Given the description of an element on the screen output the (x, y) to click on. 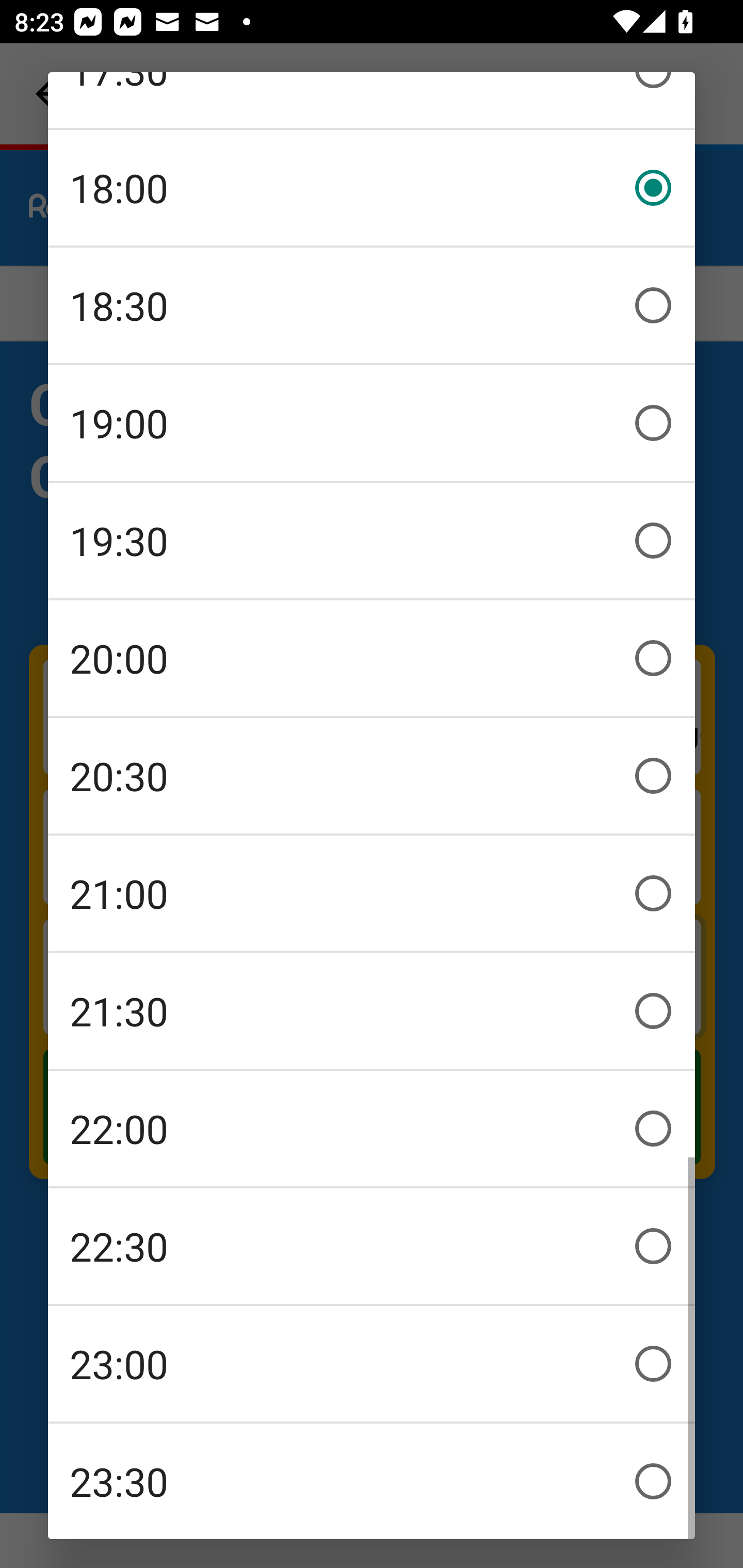
18:00 (371, 188)
18:30 (371, 305)
19:00 (371, 423)
19:30 (371, 540)
20:00 (371, 658)
20:30 (371, 776)
21:00 (371, 893)
21:30 (371, 1011)
22:00 (371, 1128)
22:30 (371, 1246)
23:00 (371, 1364)
23:30 (371, 1481)
